Given the description of an element on the screen output the (x, y) to click on. 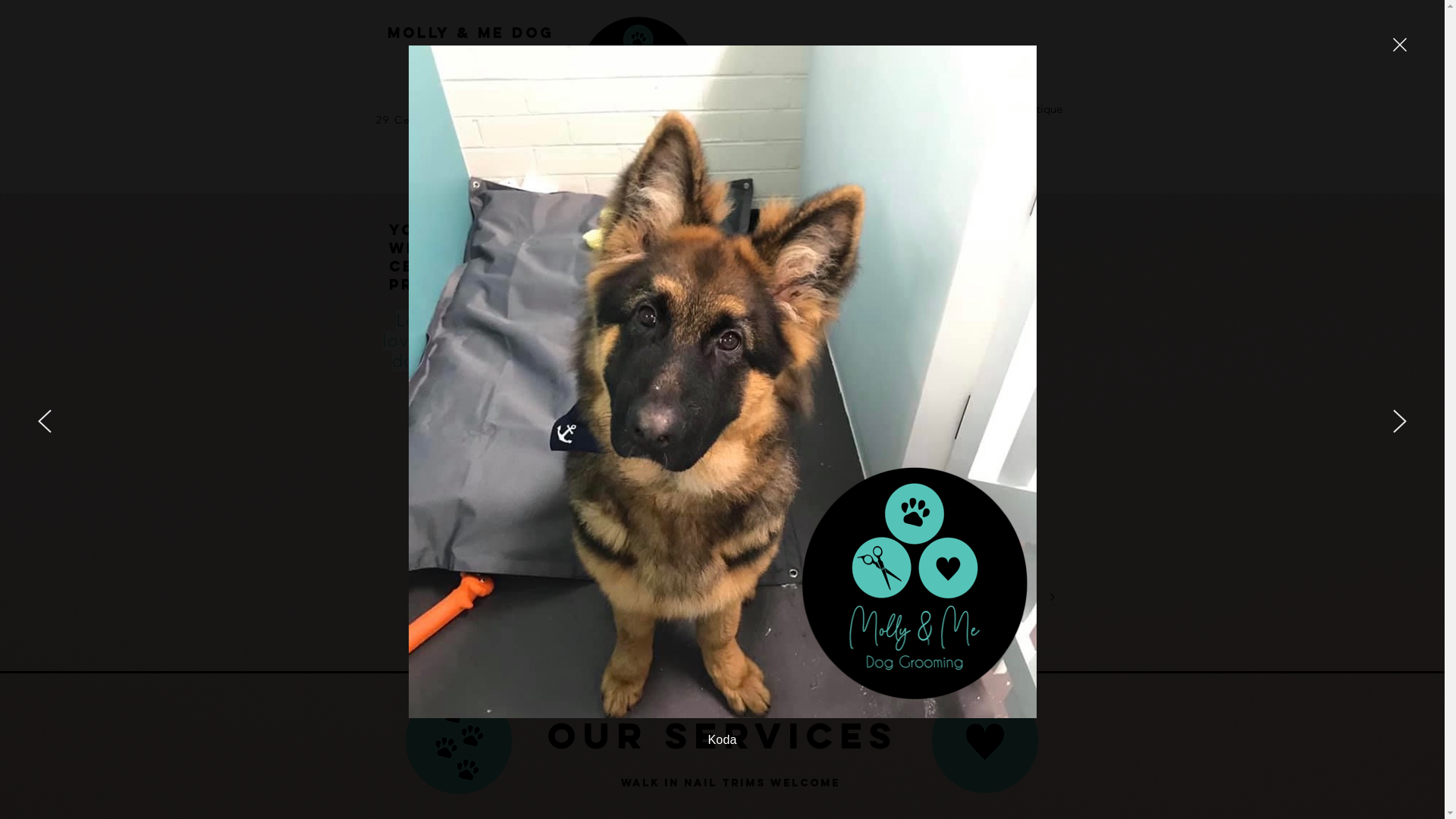
Grooming Element type: text (891, 108)
29 Centre Road, Vermont 3133 Element type: text (470, 119)
0438 700 856 Element type: text (470, 161)
Molly & me dog GROOMING Element type: text (469, 41)
graphic 5.png Element type: hover (457, 740)
Screen Shot 2020-04-05 at 7.53.47 pm.jpe Element type: hover (634, 76)
Home Element type: text (758, 108)
graphic 4.PNG Element type: hover (984, 740)
Book Now Element type: text (967, 108)
About Us Element type: text (819, 108)
Boutique Element type: text (1039, 108)
